Given the description of an element on the screen output the (x, y) to click on. 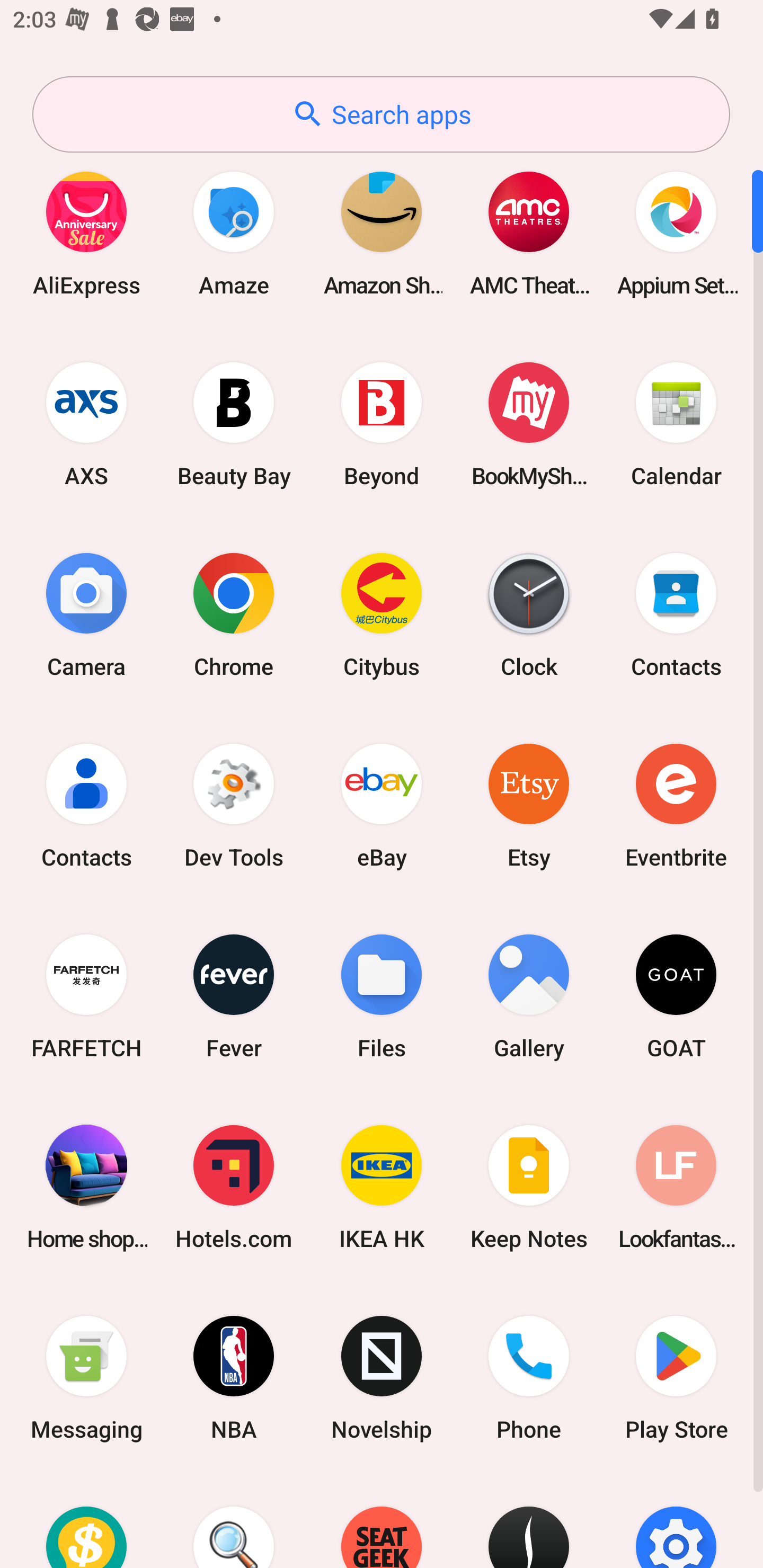
  Search apps (381, 114)
AliExpress (86, 233)
Amaze (233, 233)
Amazon Shopping (381, 233)
AMC Theatres (528, 233)
Appium Settings (676, 233)
AXS (86, 424)
Beauty Bay (233, 424)
Beyond (381, 424)
BookMyShow (528, 424)
Calendar (676, 424)
Camera (86, 614)
Chrome (233, 614)
Citybus (381, 614)
Clock (528, 614)
Contacts (676, 614)
Contacts (86, 805)
Dev Tools (233, 805)
eBay (381, 805)
Etsy (528, 805)
Eventbrite (676, 805)
FARFETCH (86, 996)
Fever (233, 996)
Files (381, 996)
Gallery (528, 996)
GOAT (676, 996)
Home shopping (86, 1186)
Hotels.com (233, 1186)
IKEA HK (381, 1186)
Keep Notes (528, 1186)
Lookfantastic (676, 1186)
Messaging (86, 1377)
NBA (233, 1377)
Novelship (381, 1377)
Phone (528, 1377)
Play Store (676, 1377)
